Given the description of an element on the screen output the (x, y) to click on. 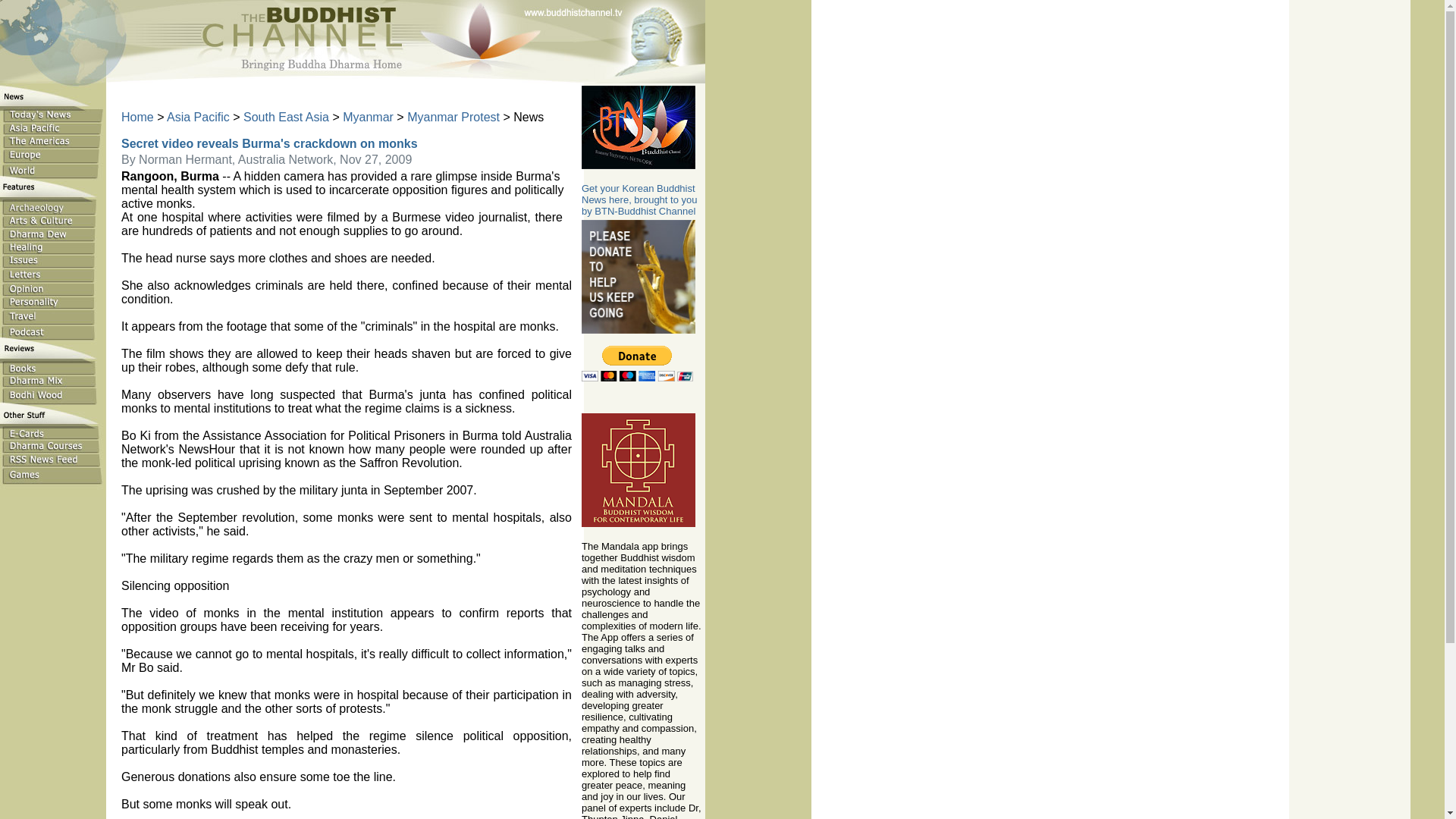
South East Asia (286, 116)
Home (137, 116)
Myanmar (367, 116)
Asia Pacific (198, 116)
Myanmar Protest (453, 116)
